Given the description of an element on the screen output the (x, y) to click on. 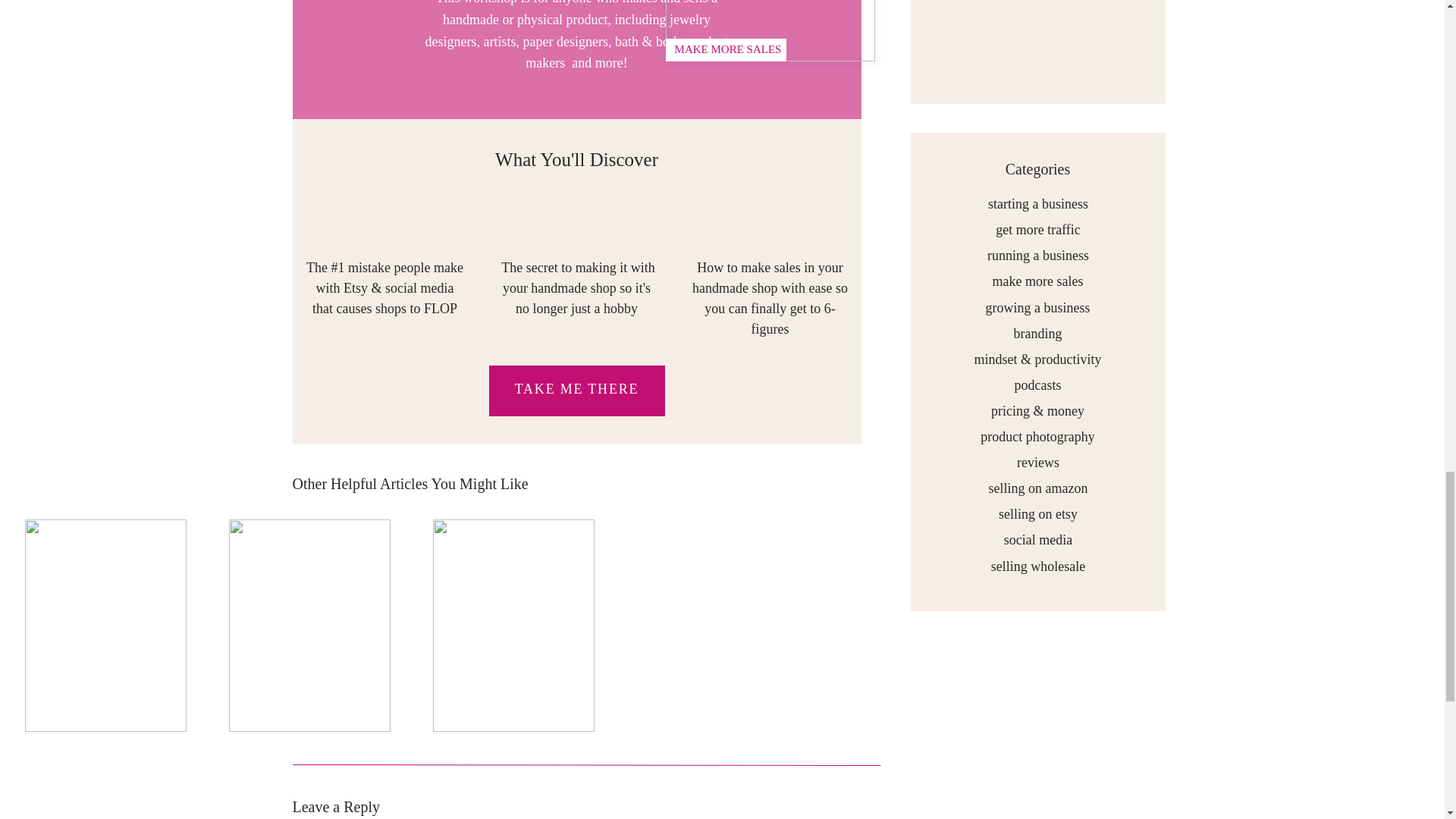
get more traffic (1037, 228)
growing a business (1037, 306)
make more sales (1037, 280)
selling on etsy (1036, 512)
starting a business (1037, 202)
selling wholesale (1038, 565)
product photography (1037, 435)
selling on amazon (1037, 487)
running a business (1037, 253)
social media (1037, 538)
